Given the description of an element on the screen output the (x, y) to click on. 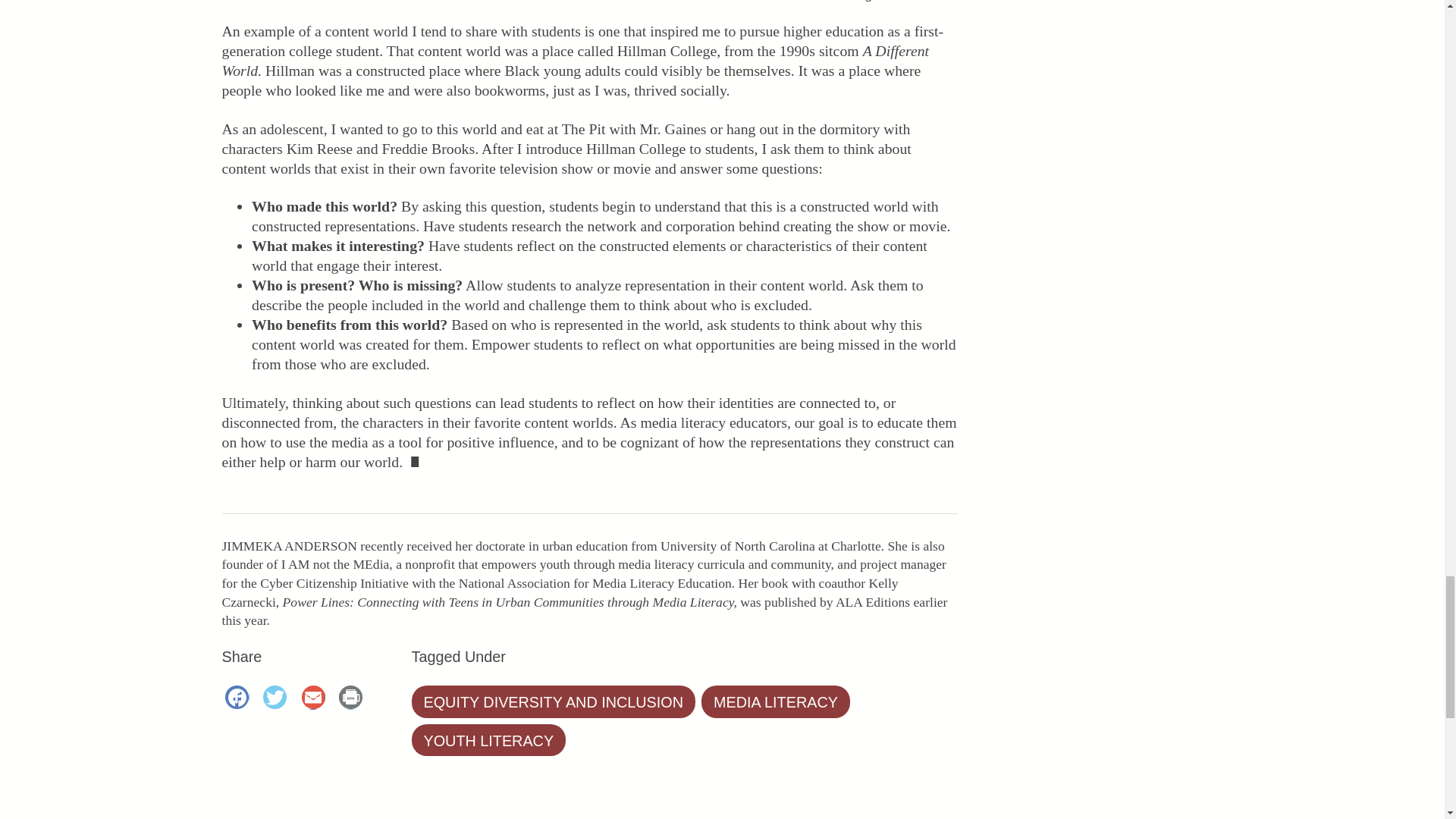
Facebook (240, 699)
Print (353, 699)
Facebook (240, 699)
Email (315, 699)
Twitter (278, 699)
